Given the description of an element on the screen output the (x, y) to click on. 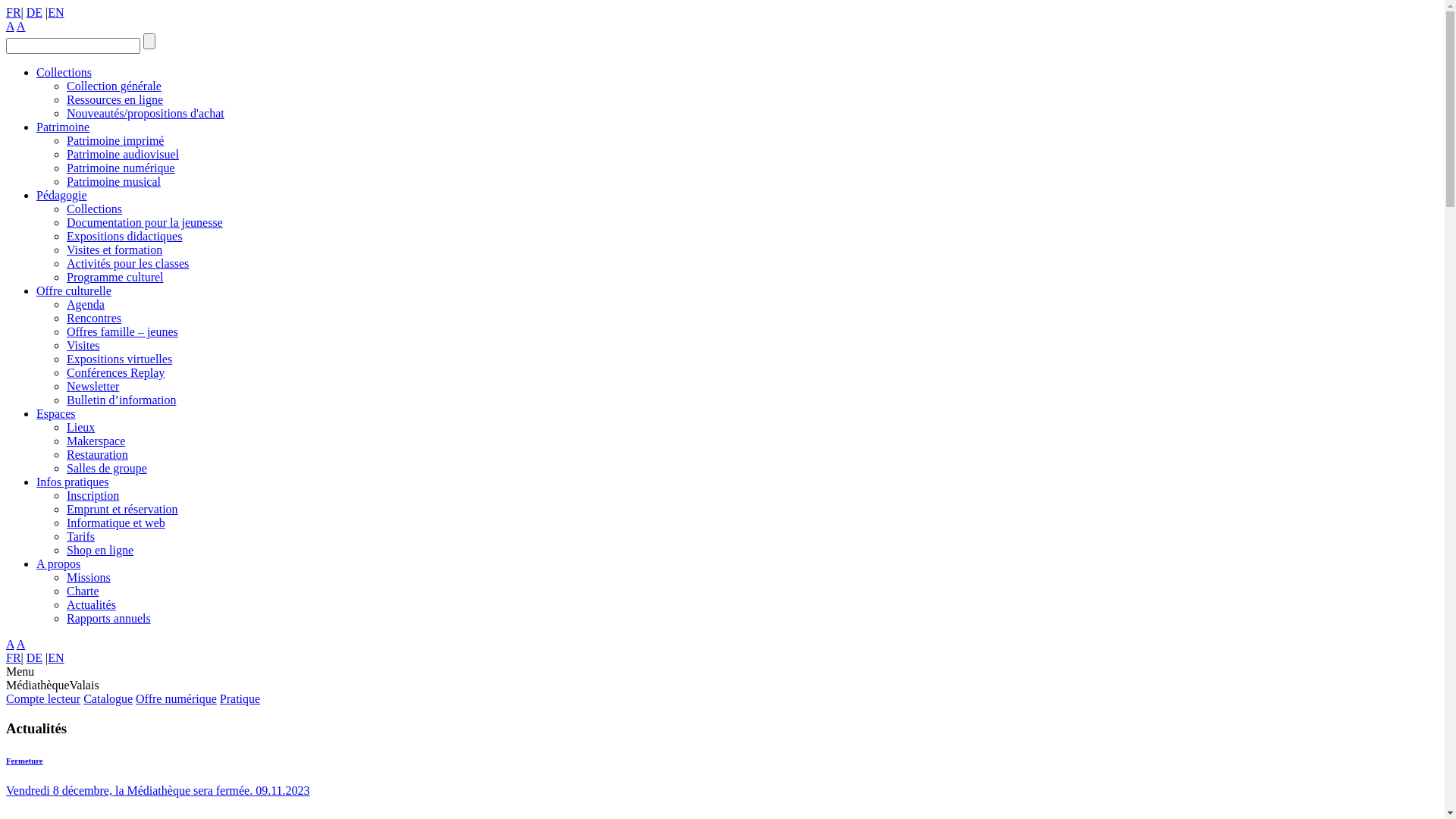
Pratique Element type: text (239, 698)
EN Element type: text (55, 657)
Rapports annuels Element type: text (108, 617)
Collections Element type: text (63, 71)
Salles de groupe Element type: text (106, 467)
Expositions didactiques Element type: text (124, 235)
DE Element type: text (34, 657)
Informatique et web Element type: text (115, 522)
EN Element type: text (55, 12)
Programme culturel Element type: text (114, 276)
Agenda Element type: text (85, 304)
Compte lecteur Element type: text (43, 698)
Visites et formation Element type: text (114, 249)
Charte Element type: text (82, 590)
Visites Element type: text (82, 344)
FR Element type: text (13, 12)
Patrimoine audiovisuel Element type: text (122, 153)
Patrimoine Element type: text (62, 126)
A Element type: text (10, 643)
A propos Element type: text (58, 563)
Catalogue Element type: text (107, 698)
A Element type: text (10, 25)
A Element type: text (20, 643)
Offre culturelle Element type: text (73, 290)
Infos pratiques Element type: text (72, 481)
Patrimoine musical Element type: text (113, 181)
Newsletter Element type: text (92, 385)
FR Element type: text (13, 657)
Tarifs Element type: text (80, 536)
DE Element type: text (34, 12)
A Element type: text (20, 25)
Collections Element type: text (94, 208)
Expositions virtuelles Element type: text (119, 358)
Shop en ligne Element type: text (99, 549)
Ressources en ligne Element type: text (114, 99)
Missions Element type: text (88, 577)
Makerspace Element type: text (95, 440)
Lieux Element type: text (80, 426)
Rencontres Element type: text (93, 317)
Inscription Element type: text (92, 495)
Documentation pour la jeunesse Element type: text (144, 222)
Restauration Element type: text (97, 454)
Espaces Element type: text (55, 413)
